Given the description of an element on the screen output the (x, y) to click on. 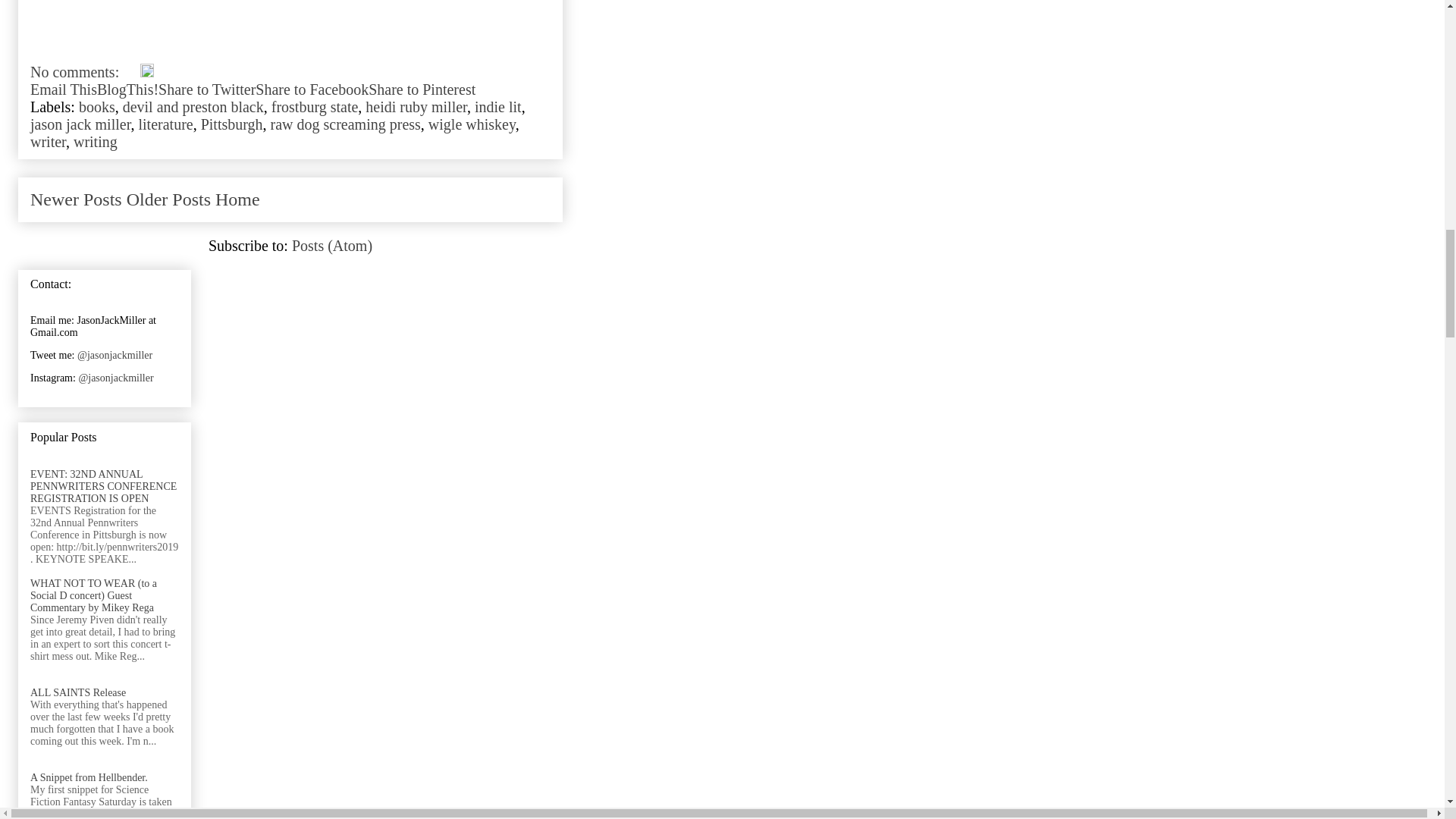
books (96, 106)
Share to Facebook (312, 89)
jason jack miller (80, 124)
devil and preston black (192, 106)
heidi ruby miller (416, 106)
writing (95, 141)
Share to Twitter (207, 89)
raw dog screaming press (345, 124)
writer (47, 141)
Newer Posts (76, 199)
wigle whiskey (471, 124)
BlogThis! (127, 89)
Email This (63, 89)
Pittsburgh (231, 124)
Share to Pinterest (422, 89)
